Given the description of an element on the screen output the (x, y) to click on. 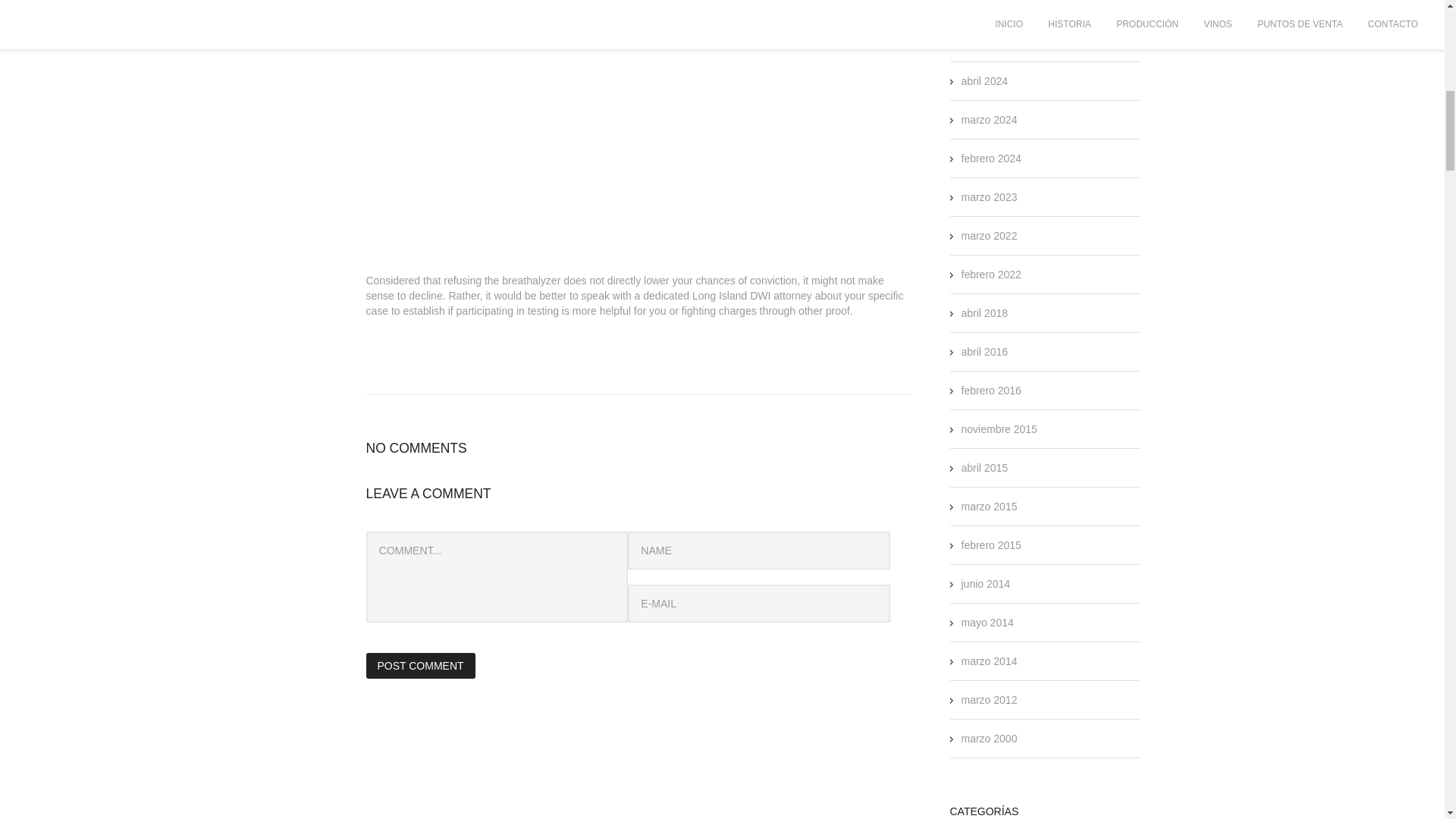
febrero 2024 (991, 158)
abril 2015 (984, 467)
marzo 2023 (988, 196)
abril 2018 (984, 313)
marzo 2015 (988, 506)
abril 2024 (984, 80)
Post Comment (419, 665)
marzo 2012 (988, 699)
noviembre 2015 (998, 428)
marzo 2000 (988, 738)
marzo 2014 (988, 661)
E-mail (758, 603)
febrero 2015 (991, 544)
Post Comment (419, 665)
marzo 2024 (988, 119)
